Given the description of an element on the screen output the (x, y) to click on. 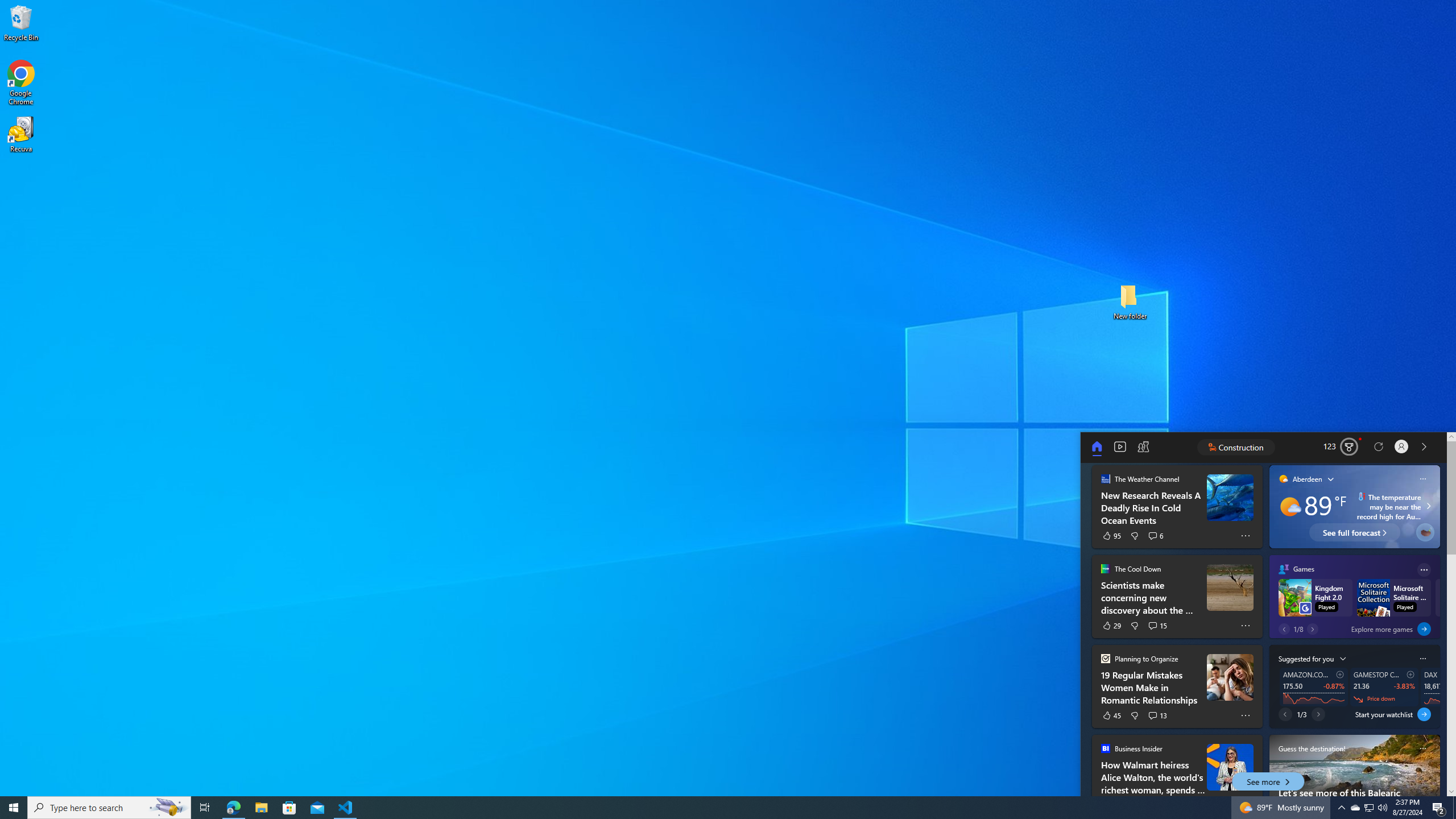
Plant a real tree (1425, 532)
Previous page (1285, 714)
Next game (1312, 628)
Play games (1142, 446)
News and Interests (1296, 446)
See full forecast (1354, 532)
Previous game (1284, 628)
See 15 comments (1158, 625)
